Given the description of an element on the screen output the (x, y) to click on. 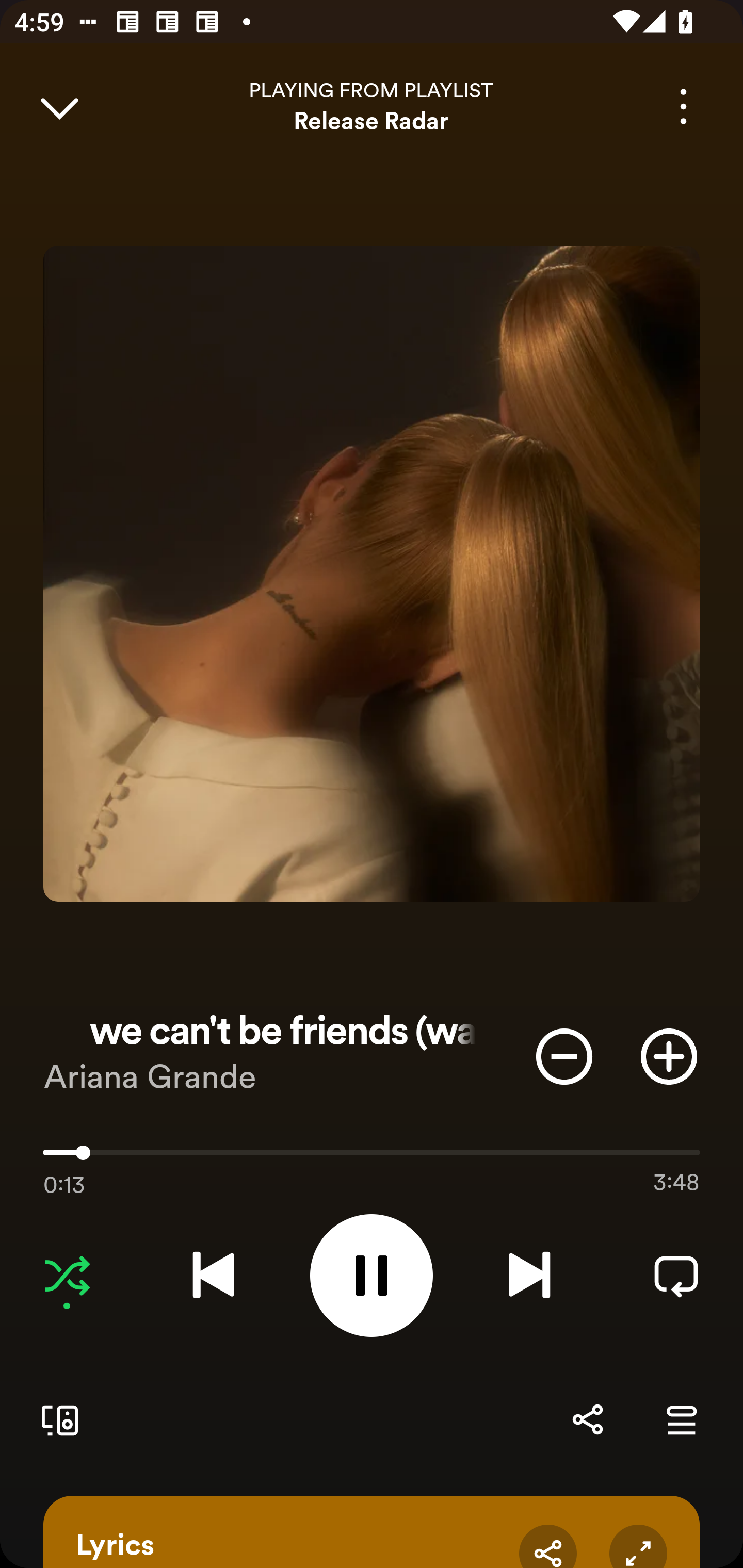
Close (59, 106)
PLAYING FROM PLAYLIST Release Radar (371, 106)
Don't play this (564, 1056)
Add item (669, 1056)
0:13 3:48 13424.0 Use volume keys to adjust (371, 1157)
Pause (371, 1275)
Previous (212, 1275)
Next (529, 1275)
Stop shuffling tracks (66, 1275)
Repeat (676, 1275)
Share (587, 1419)
Go to Queue (681, 1419)
Connect to a device. Opens the devices menu (55, 1419)
Lyrics Share Expand (371, 1531)
Share (547, 1546)
Expand (638, 1546)
